Given the description of an element on the screen output the (x, y) to click on. 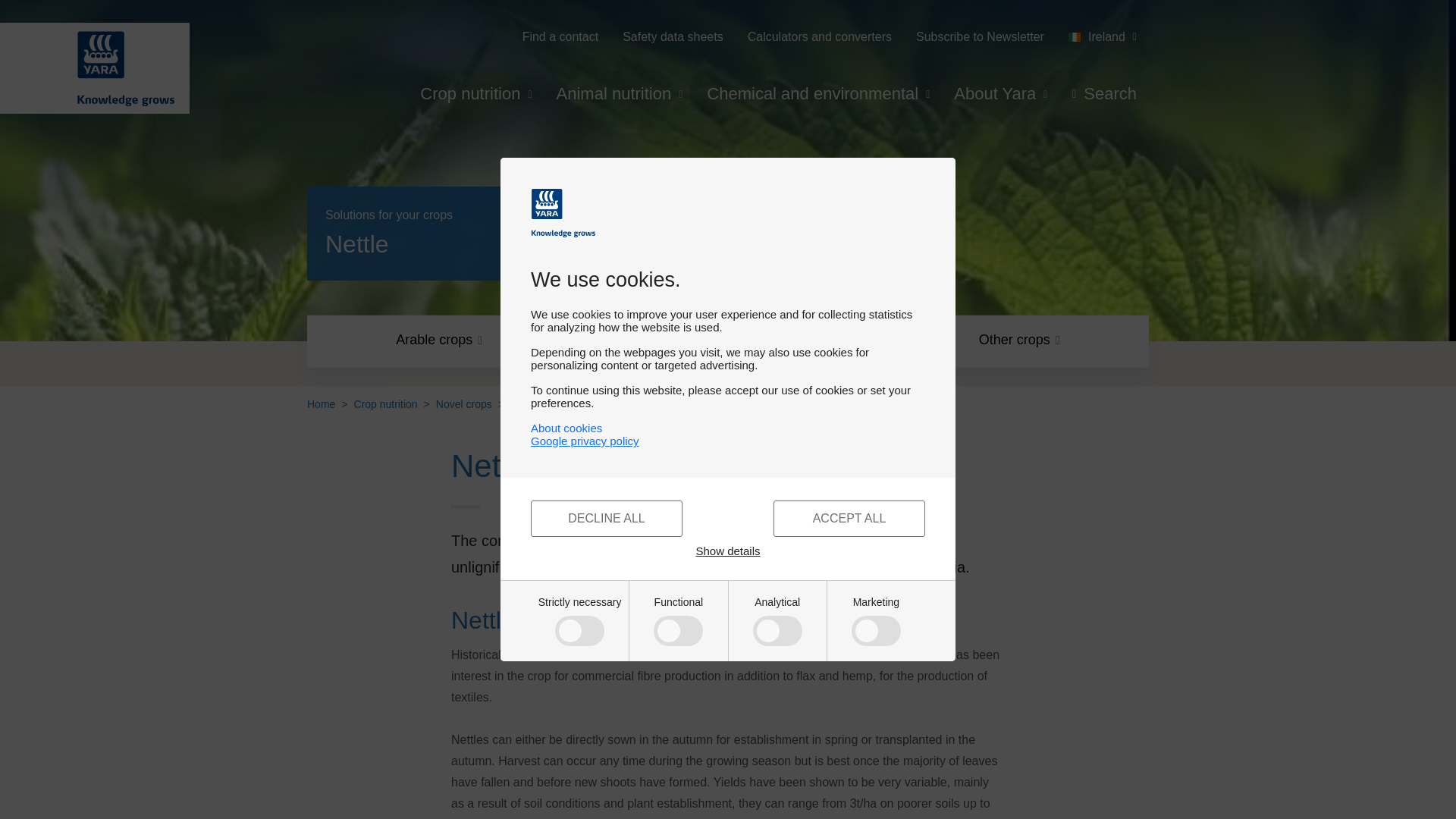
ACCEPT ALL (848, 518)
About cookies (566, 427)
Google privacy policy (727, 440)
Show details (727, 550)
DECLINE ALL (606, 518)
